Given the description of an element on the screen output the (x, y) to click on. 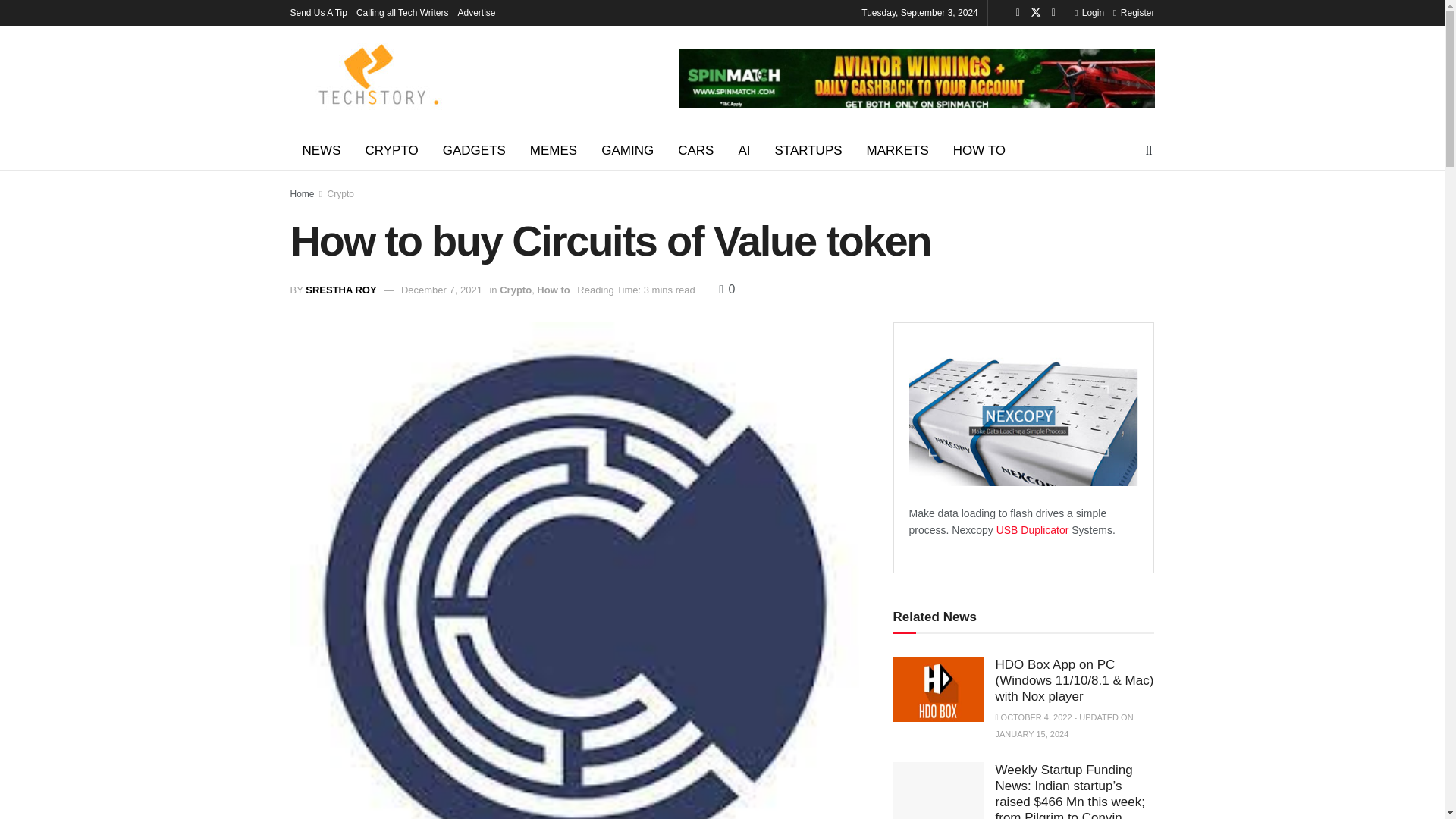
GAMING (627, 150)
NEWS (320, 150)
USB duplicator (1033, 530)
STARTUPS (807, 150)
Login (1088, 12)
MEMES (553, 150)
HOW TO (978, 150)
GADGETS (474, 150)
CRYPTO (391, 150)
Send Us A Tip (317, 12)
